Given the description of an element on the screen output the (x, y) to click on. 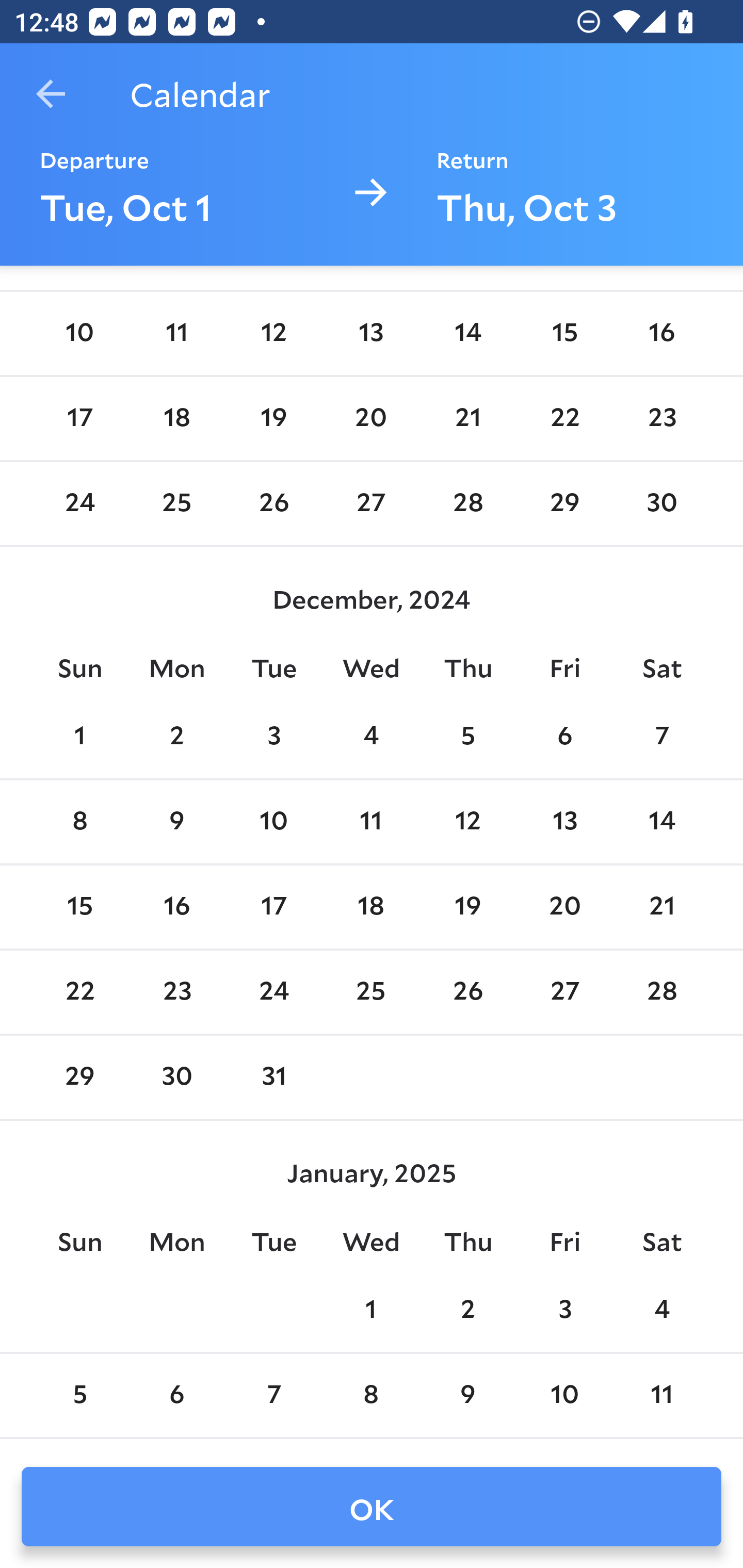
Navigate up (50, 93)
10 (79, 333)
11 (177, 333)
12 (273, 333)
13 (371, 333)
14 (467, 333)
15 (565, 333)
16 (661, 333)
17 (79, 418)
18 (177, 418)
19 (273, 418)
20 (371, 418)
21 (467, 418)
22 (565, 418)
23 (661, 418)
24 (79, 503)
25 (177, 503)
26 (273, 503)
27 (371, 503)
28 (467, 503)
29 (565, 503)
30 (661, 503)
1 (79, 736)
2 (177, 736)
3 (273, 736)
4 (371, 736)
5 (467, 736)
6 (565, 736)
7 (661, 736)
8 (79, 821)
9 (177, 821)
10 (273, 821)
11 (371, 821)
12 (467, 821)
13 (565, 821)
14 (661, 821)
15 (79, 907)
16 (177, 907)
17 (273, 907)
18 (371, 907)
19 (467, 907)
20 (565, 907)
21 (661, 907)
22 (79, 992)
23 (177, 992)
24 (273, 992)
25 (371, 992)
26 (467, 992)
27 (565, 992)
28 (661, 992)
29 (79, 1077)
30 (177, 1077)
31 (273, 1077)
1 (371, 1310)
2 (467, 1310)
3 (565, 1310)
4 (661, 1310)
5 (79, 1395)
6 (177, 1395)
7 (273, 1395)
8 (371, 1395)
9 (467, 1395)
10 (565, 1395)
11 (661, 1395)
OK (371, 1506)
